Given the description of an element on the screen output the (x, y) to click on. 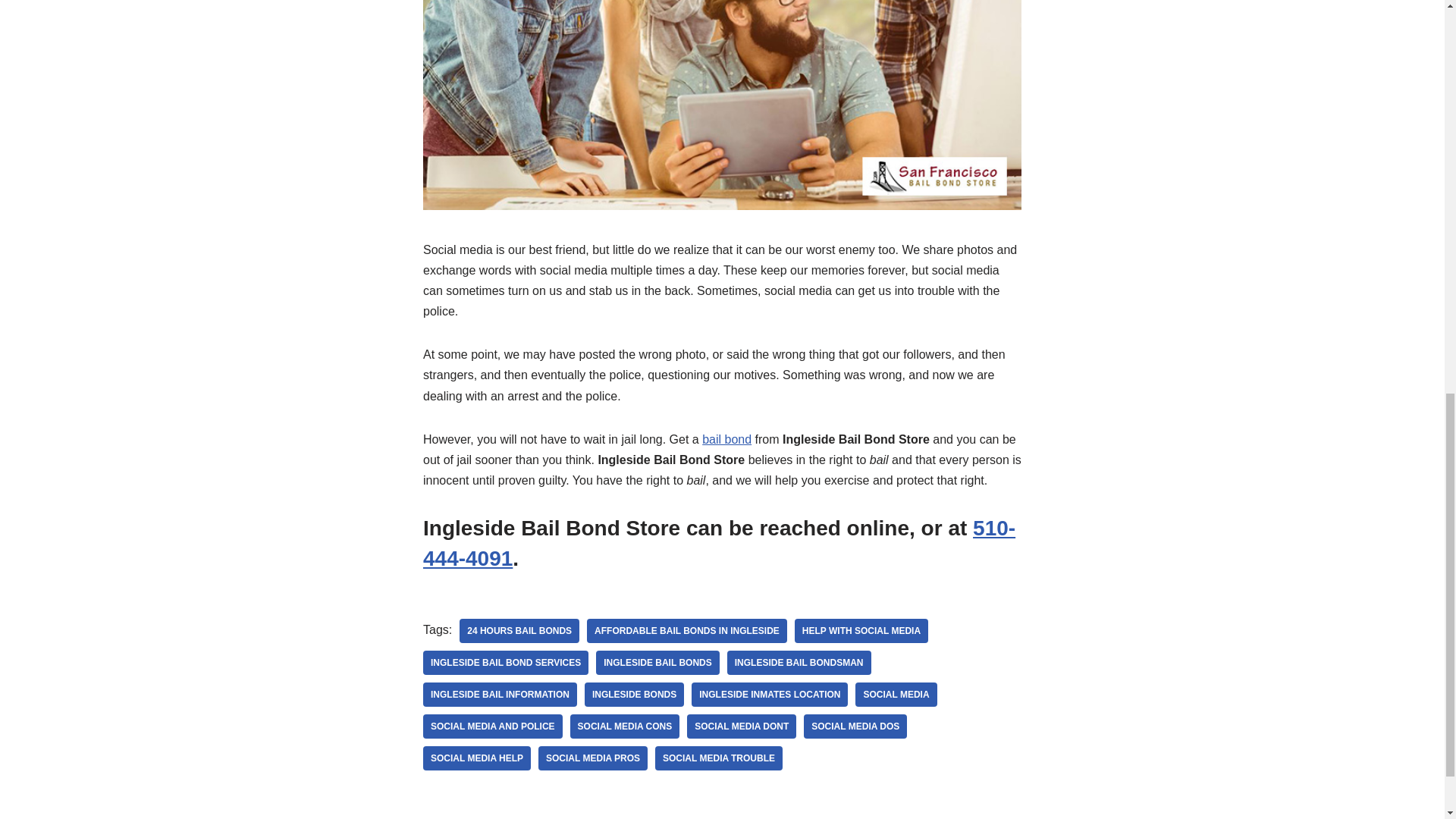
SOCIAL MEDIA PROS (592, 758)
AFFORDABLE BAIL BONDS IN INGLESIDE (686, 630)
HELP WITH SOCIAL MEDIA (861, 630)
social media dont (741, 726)
bail bond (726, 439)
ingleside bonds (634, 694)
INGLESIDE BAIL BONDSMAN (798, 662)
ingleside bail information (499, 694)
INGLESIDE INMATES LOCATION (769, 694)
help with social media (861, 630)
ingleside inmates location (769, 694)
24 HOURS BAIL BONDS (519, 630)
INGLESIDE BAIL INFORMATION (499, 694)
SOCIAL MEDIA TROUBLE (719, 758)
